Given the description of an element on the screen output the (x, y) to click on. 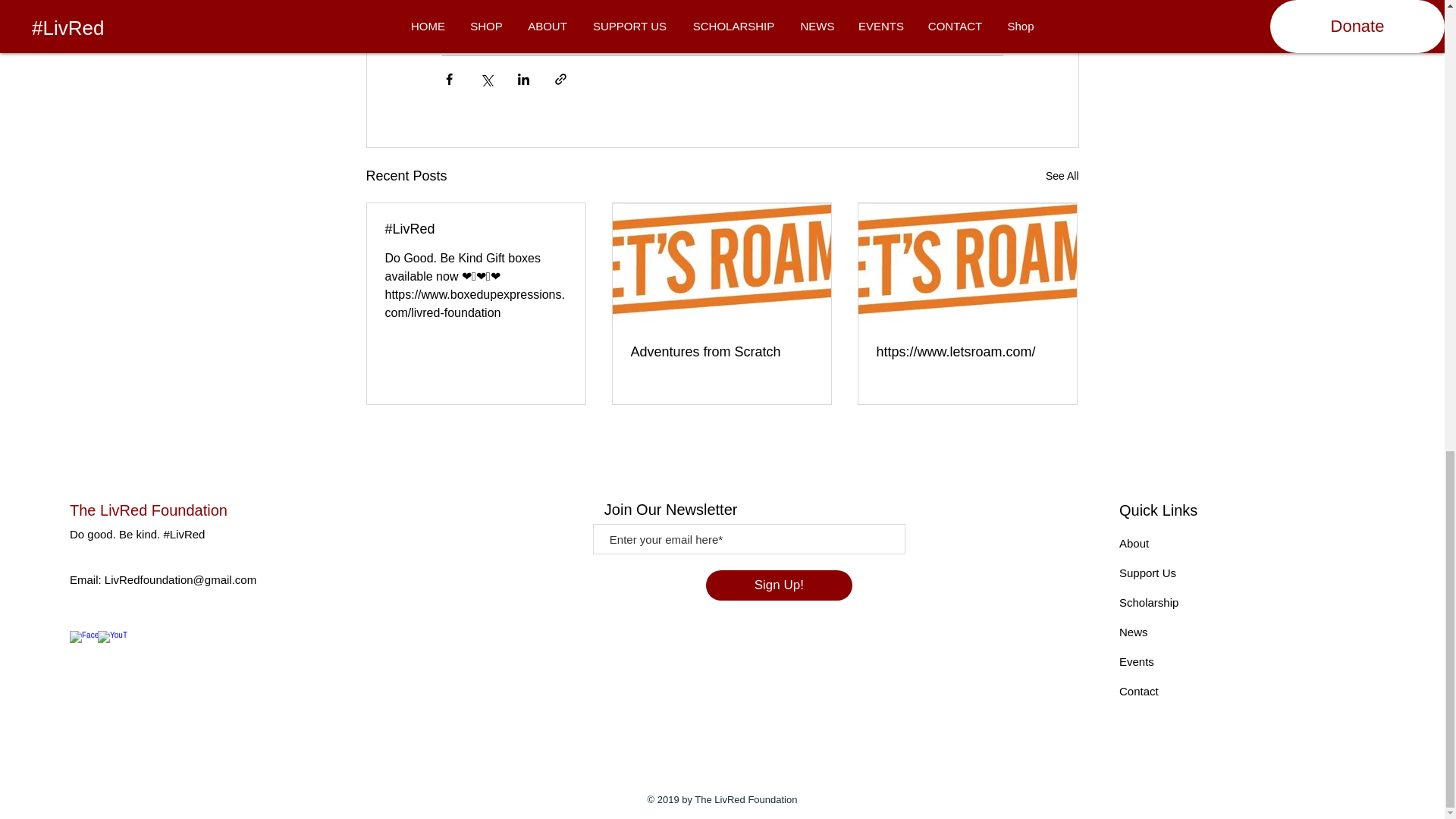
Sign Up! (778, 585)
Events (1136, 661)
See All (1061, 176)
About (1133, 543)
Scholarship (1148, 602)
News (1133, 631)
Support Us (1147, 572)
Adventures from Scratch (721, 351)
Contact (1138, 690)
